Given the description of an element on the screen output the (x, y) to click on. 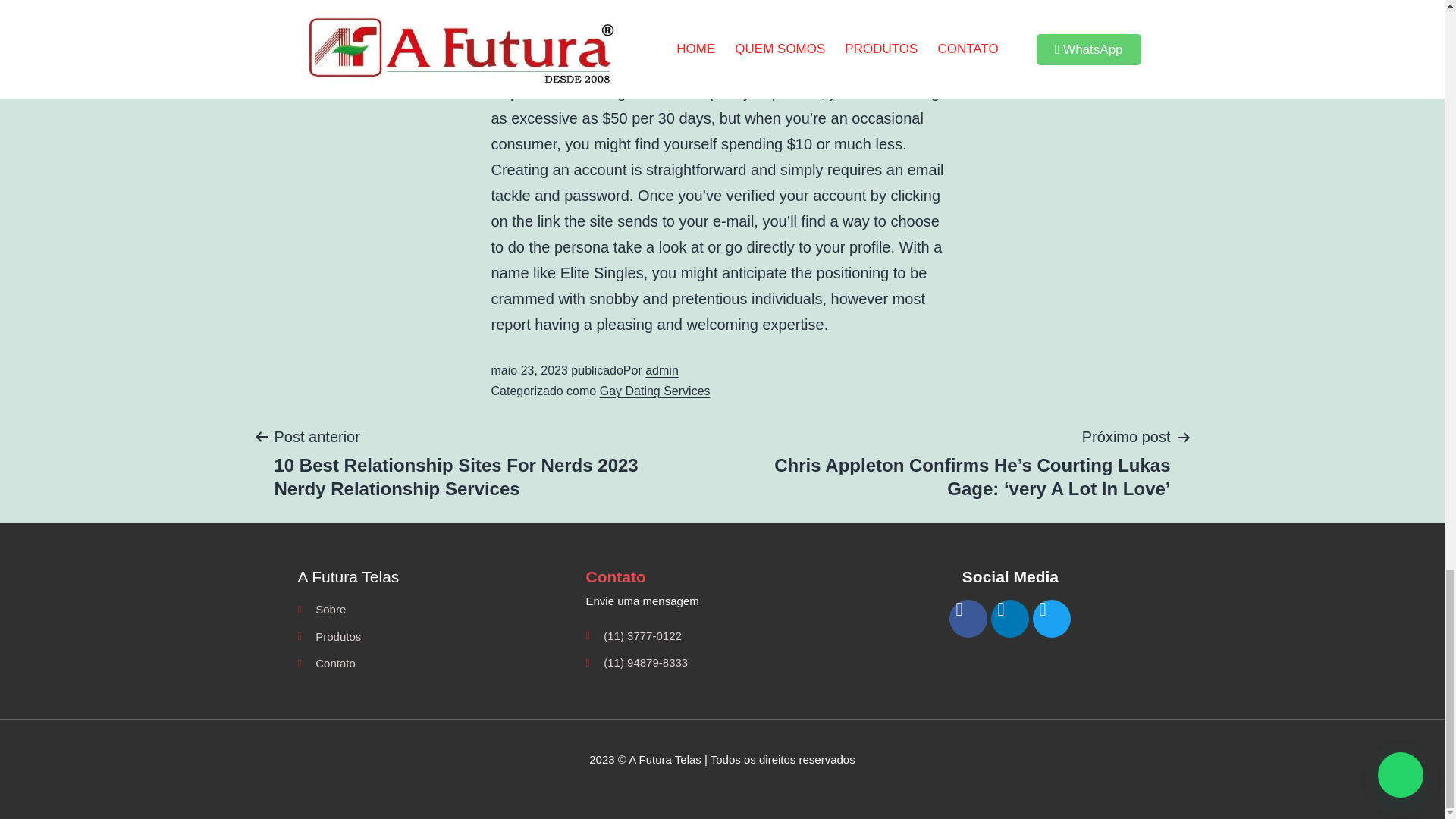
Envie uma mensagem (722, 600)
Sobre (433, 609)
Contato (433, 663)
Produtos (433, 637)
Gay Dating Services (654, 390)
admin (661, 369)
